Given the description of an element on the screen output the (x, y) to click on. 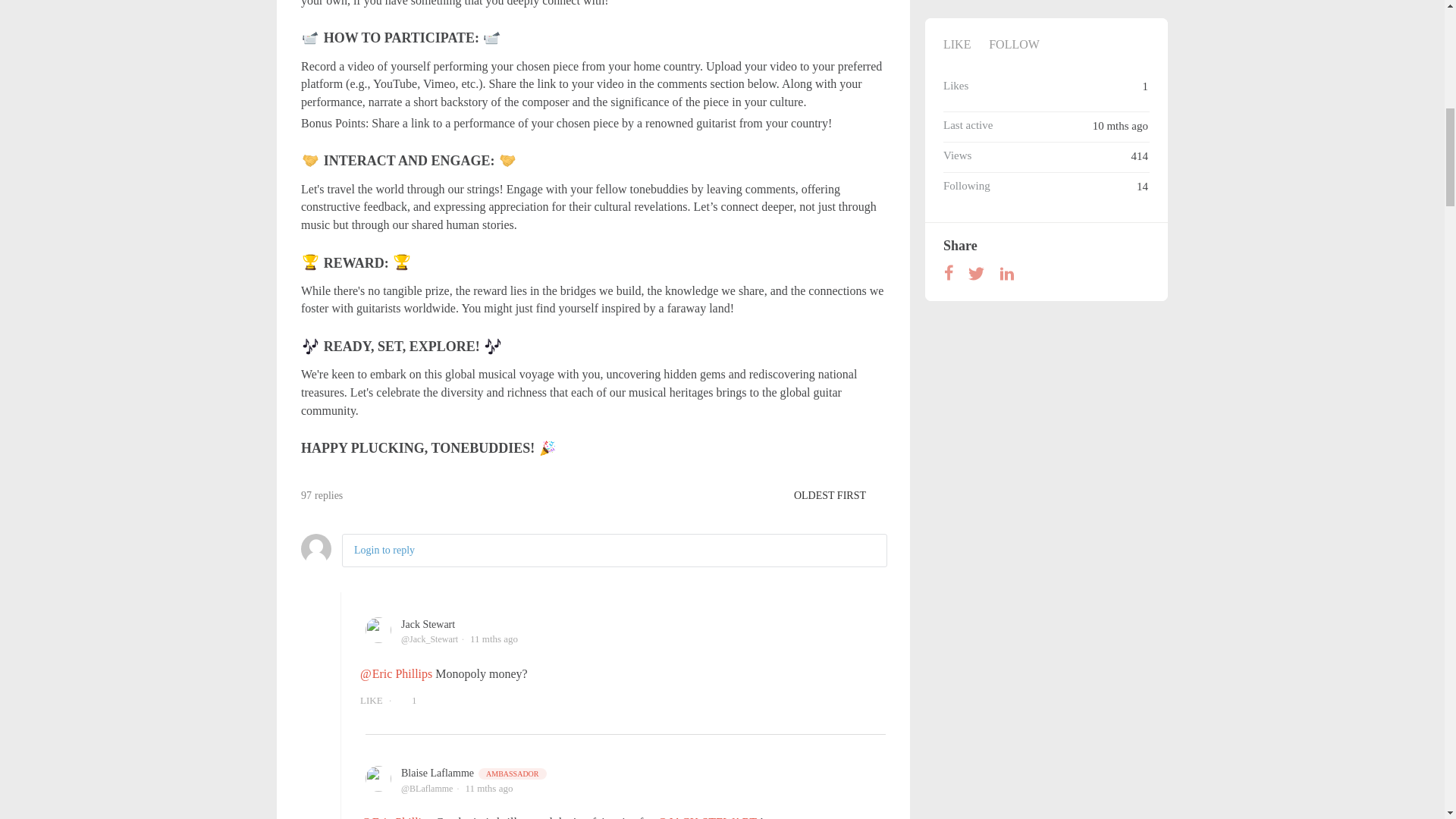
Jack Stewart (427, 624)
Login to reply (383, 550)
Blaise LaflammeAMBASSADOR (474, 772)
